Given the description of an element on the screen output the (x, y) to click on. 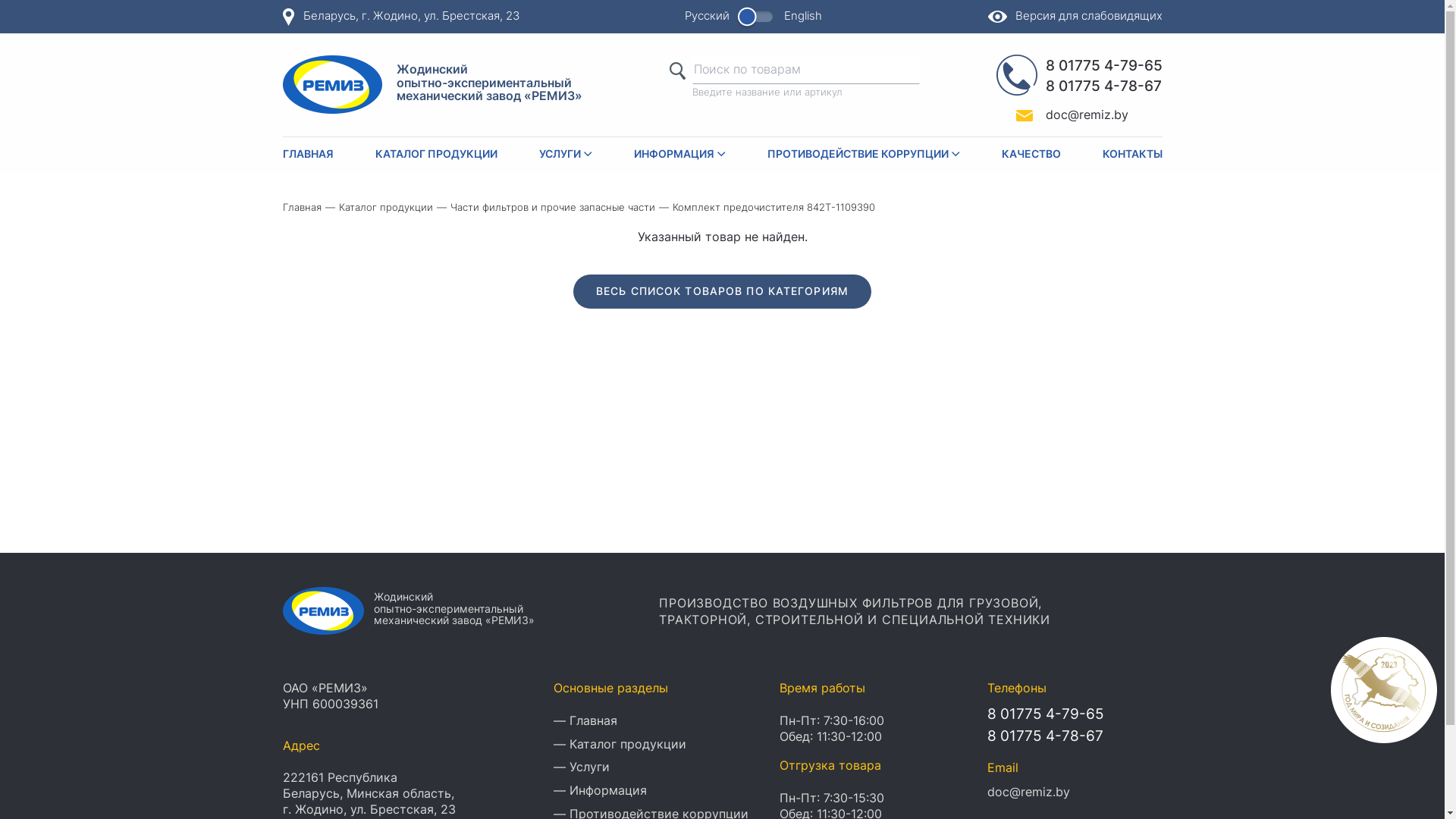
8 01775 4-79-65 Element type: text (1102, 65)
doc@remiz.by Element type: text (1028, 792)
English Element type: text (803, 15)
8 01775 4-78-67 Element type: text (1102, 86)
doc@remiz.by Element type: text (1062, 115)
8 01775 4-79-65 Element type: text (1045, 714)
8 01775 4-78-67 Element type: text (1045, 736)
